Given the description of an element on the screen output the (x, y) to click on. 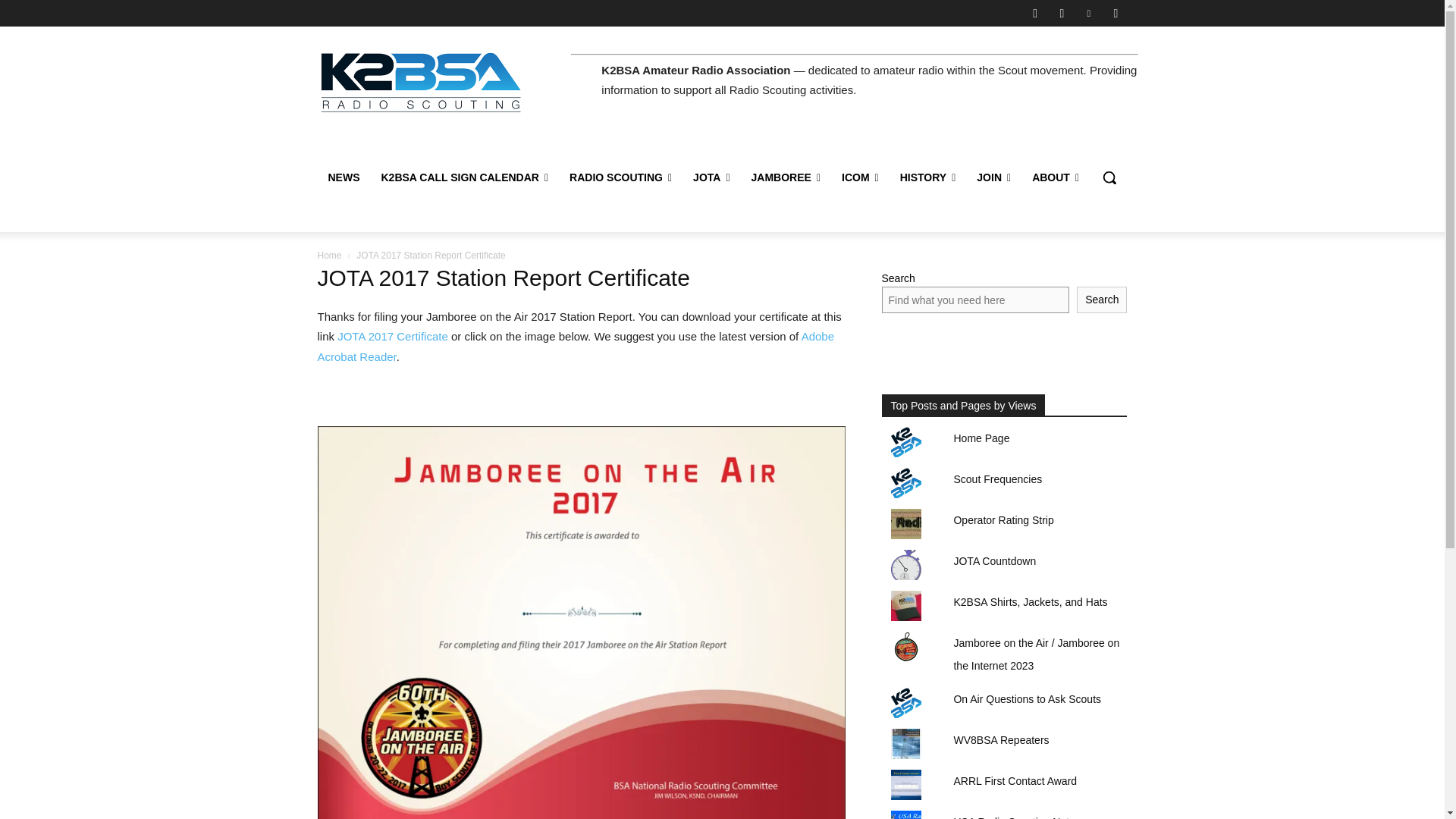
Youtube (1114, 12)
Scouting and Amateur Radio (425, 81)
Twitter (1061, 12)
Facebook (1034, 12)
Scouting and Amateur Radio (419, 81)
Vimeo (1088, 12)
